Given the description of an element on the screen output the (x, y) to click on. 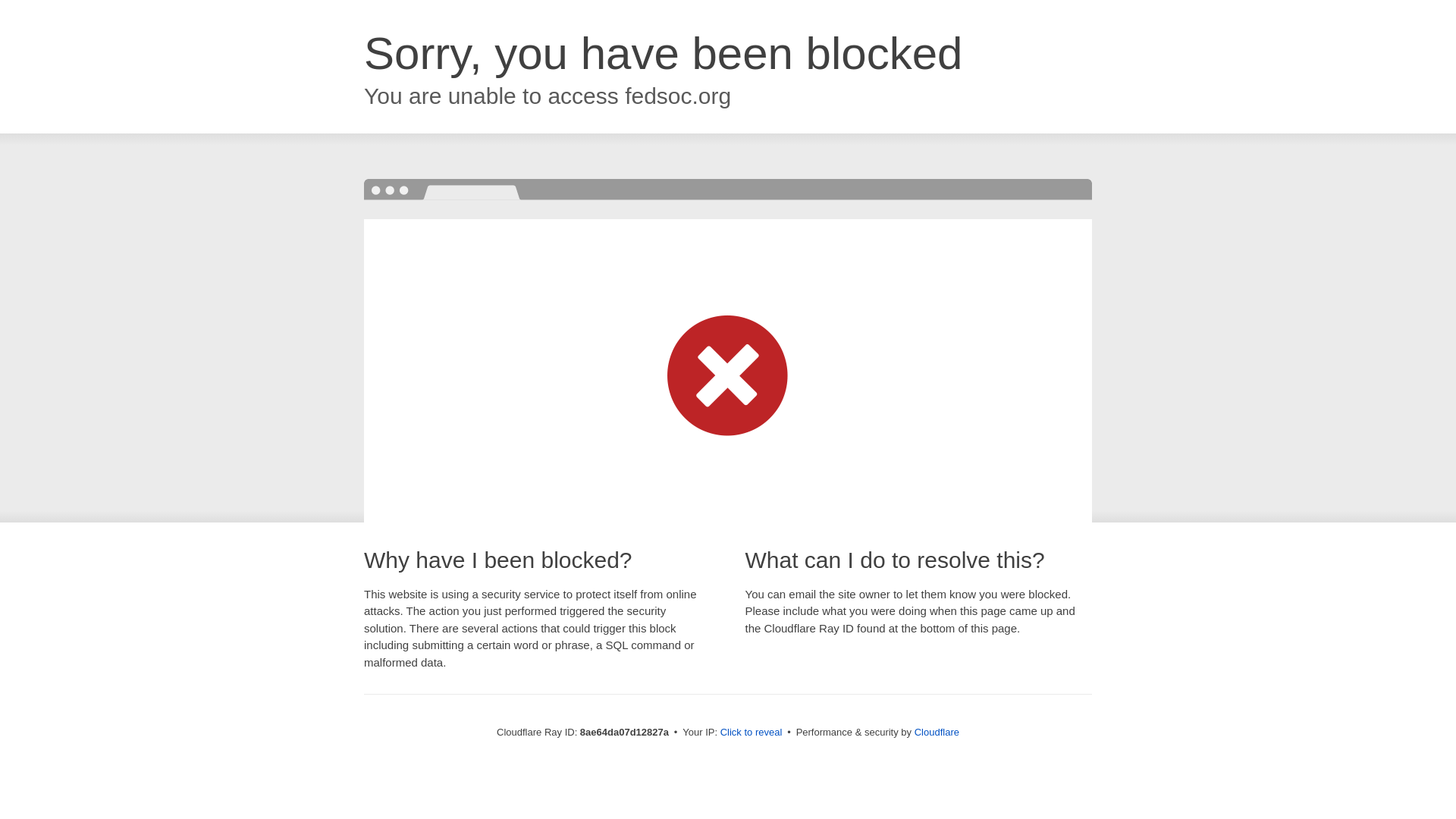
Click to reveal (751, 732)
Cloudflare (936, 731)
